Given the description of an element on the screen output the (x, y) to click on. 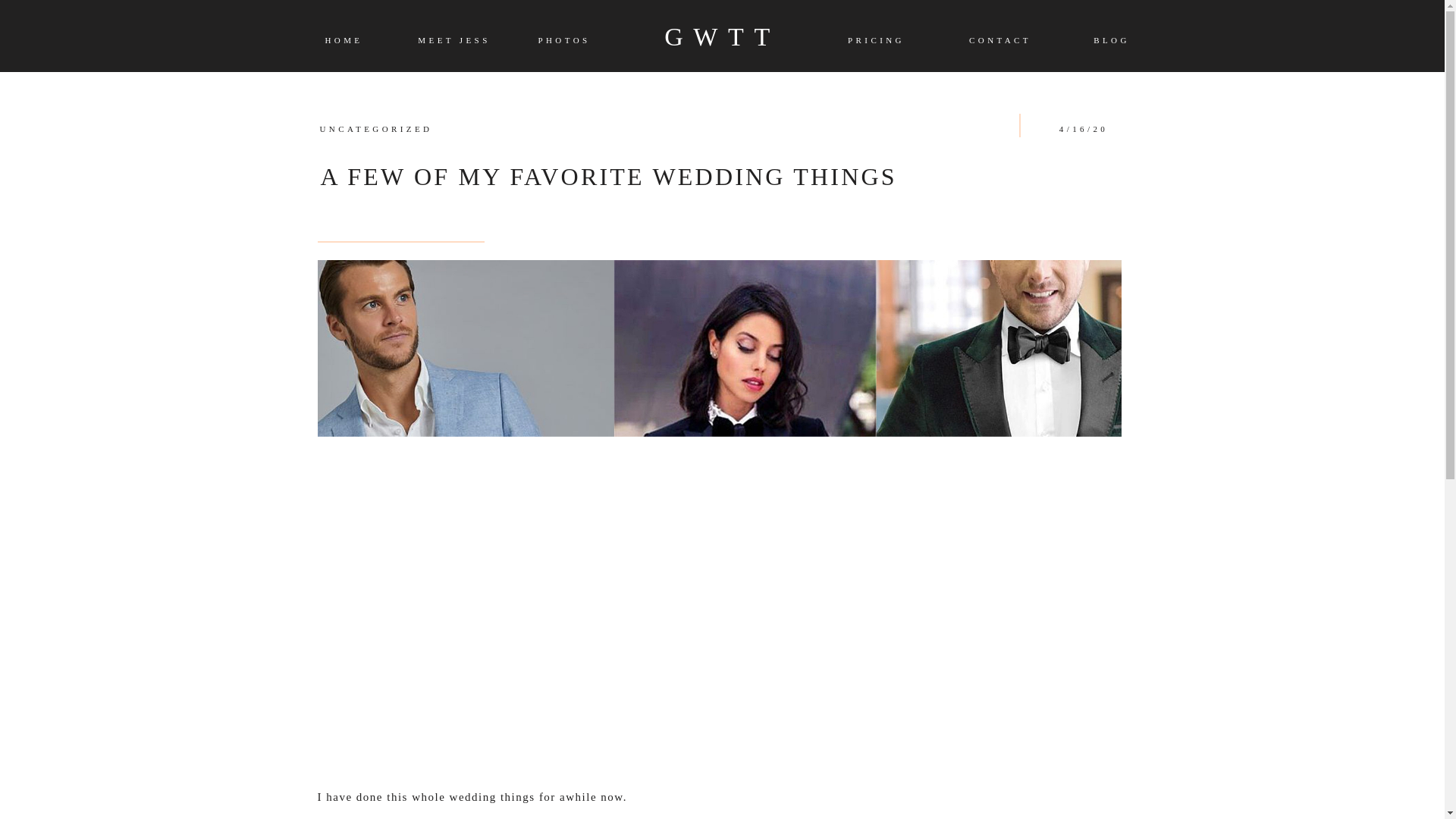
BLOG (1112, 40)
CONTACT (999, 40)
MEET JESS (454, 38)
PHOTOS (563, 40)
HOME (344, 40)
UNCATEGORIZED (376, 128)
PRICING (875, 40)
GWTT (722, 35)
